Given the description of an element on the screen output the (x, y) to click on. 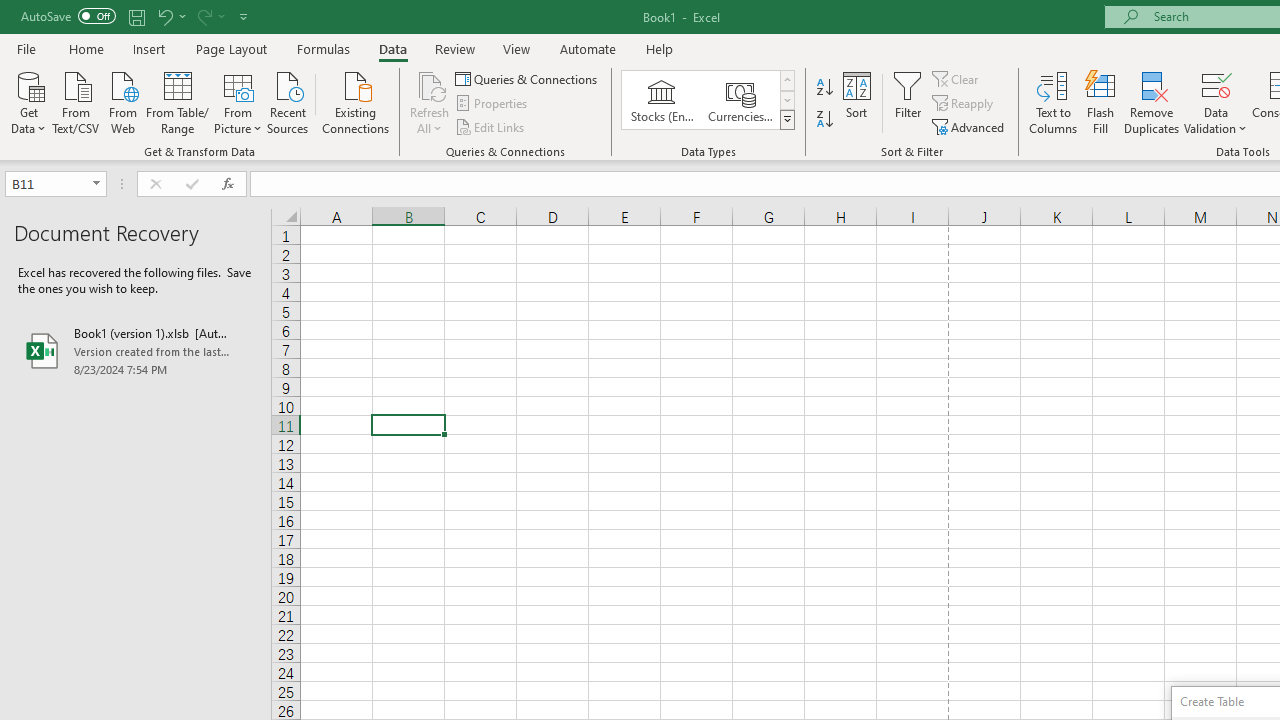
AutoSave (68, 16)
Help (660, 48)
Insert (149, 48)
From Web (122, 101)
Queries & Connections (527, 78)
Refresh All (429, 102)
Advanced... (970, 126)
Data Validation... (1215, 102)
Filter (908, 102)
From Picture (238, 101)
Stocks (English) (662, 100)
